Given the description of an element on the screen output the (x, y) to click on. 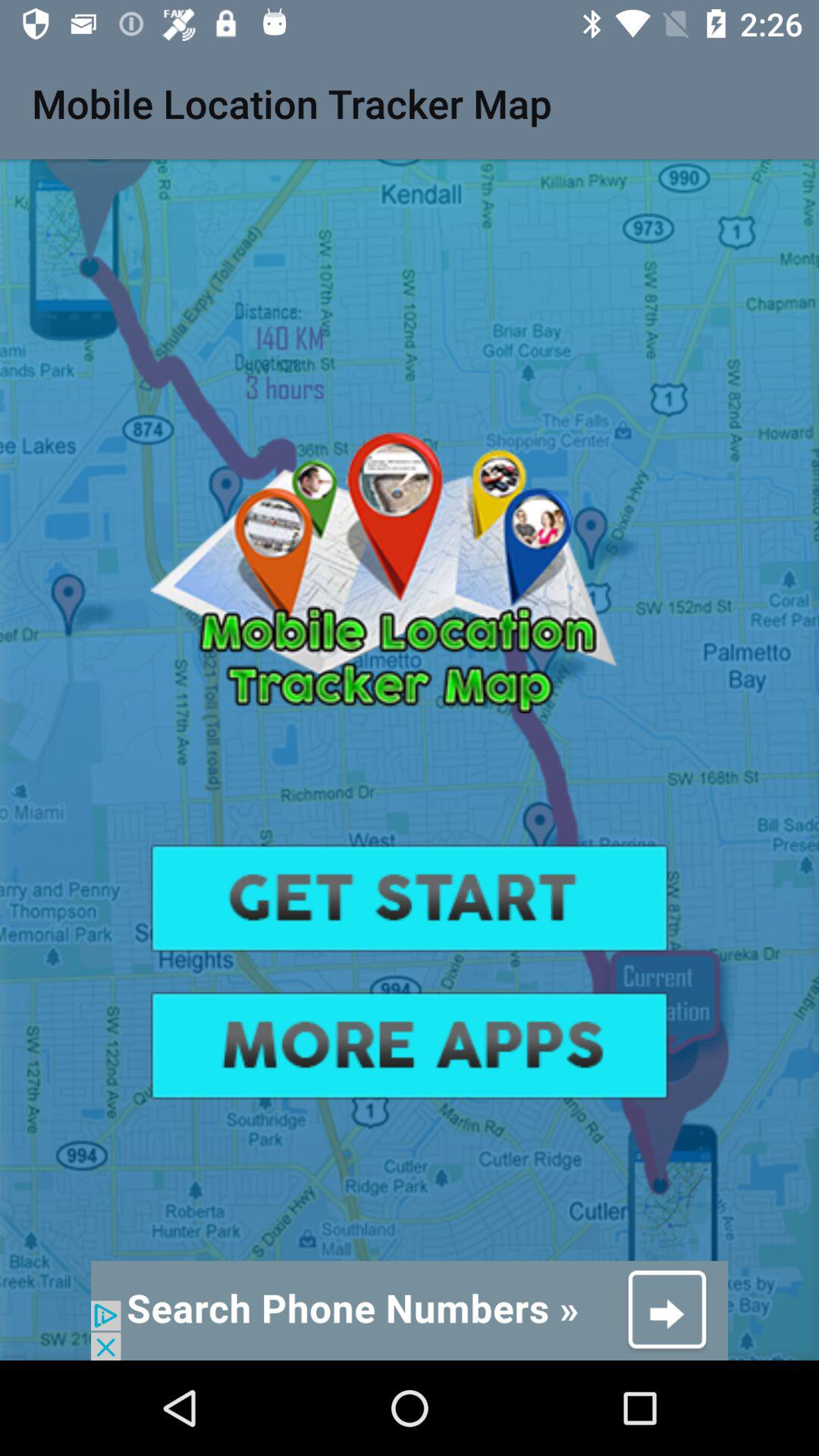
start the application (409, 898)
